Given the description of an element on the screen output the (x, y) to click on. 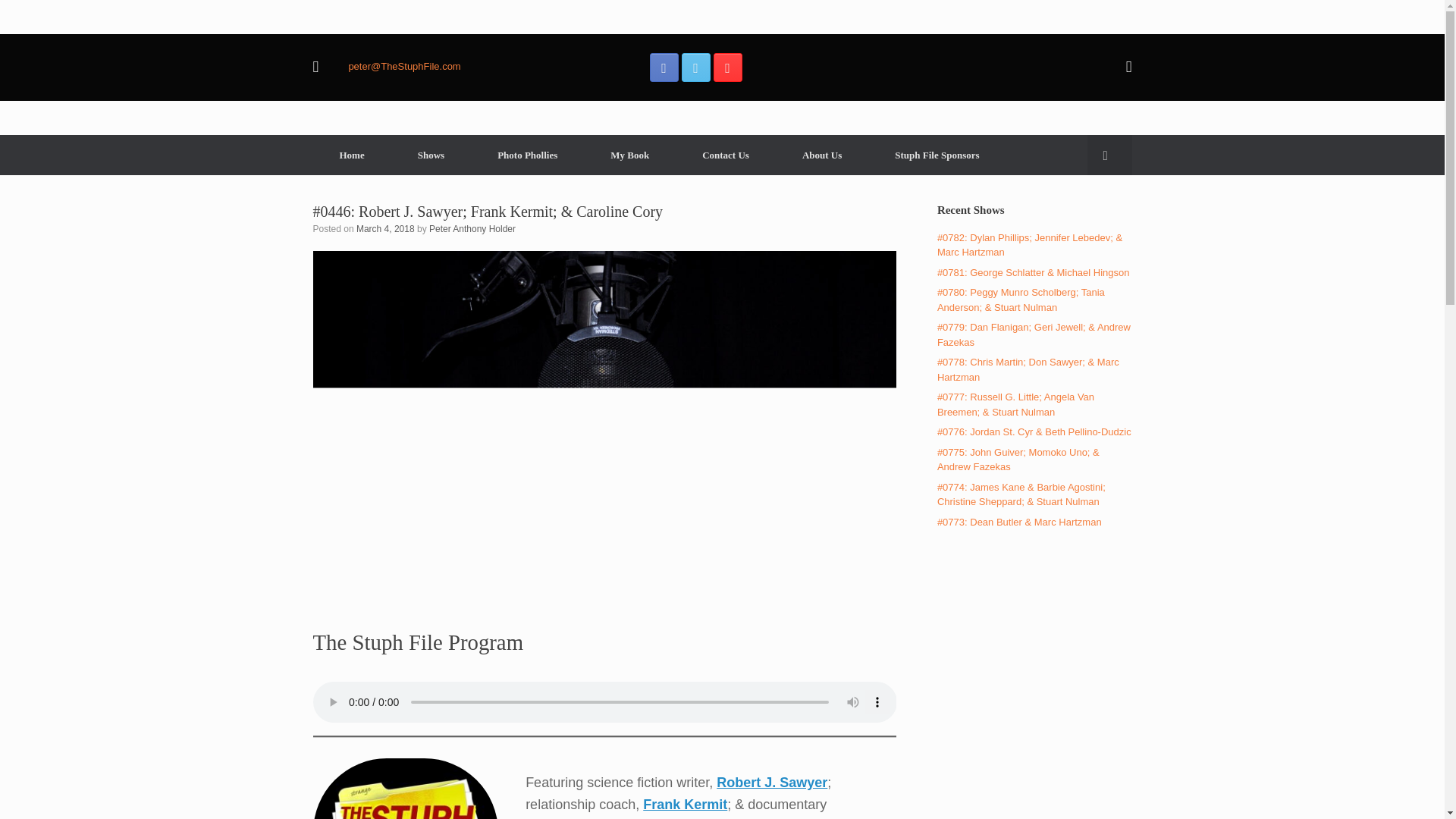
The Stuph File Facebook (663, 67)
About Us (821, 155)
March 4, 2018 (385, 228)
Frank Kermit (684, 804)
11:42 am (385, 228)
View all posts by Peter Anthony Holder (472, 228)
My Book (629, 155)
Robert J. Sawyer (771, 782)
Photo Phollies (526, 155)
Stuph File Sponsors (936, 155)
